Given the description of an element on the screen output the (x, y) to click on. 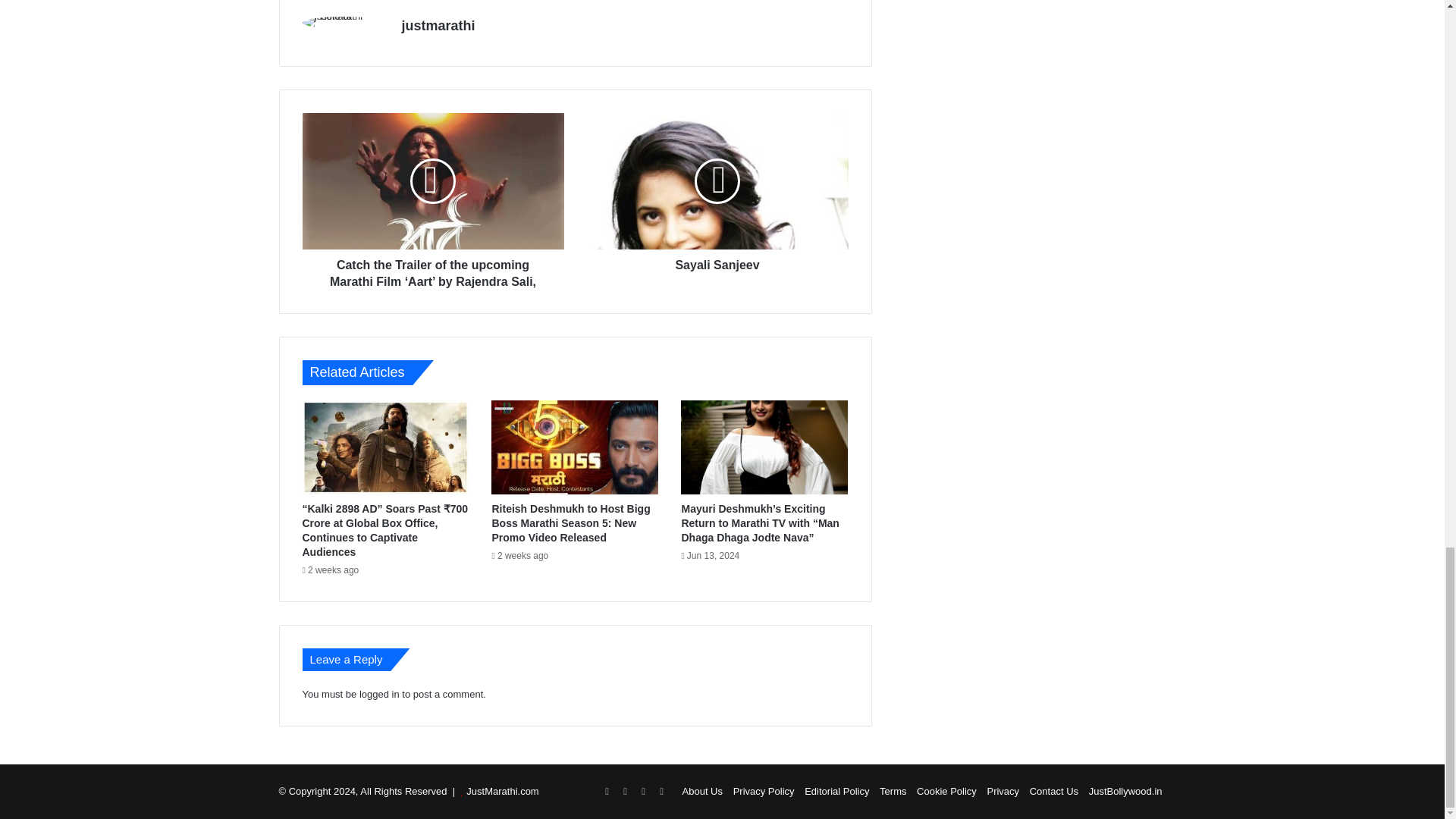
justmarathi (438, 25)
Sayali Sanjeev (717, 181)
Sayali Sanjeev (717, 261)
